Given the description of an element on the screen output the (x, y) to click on. 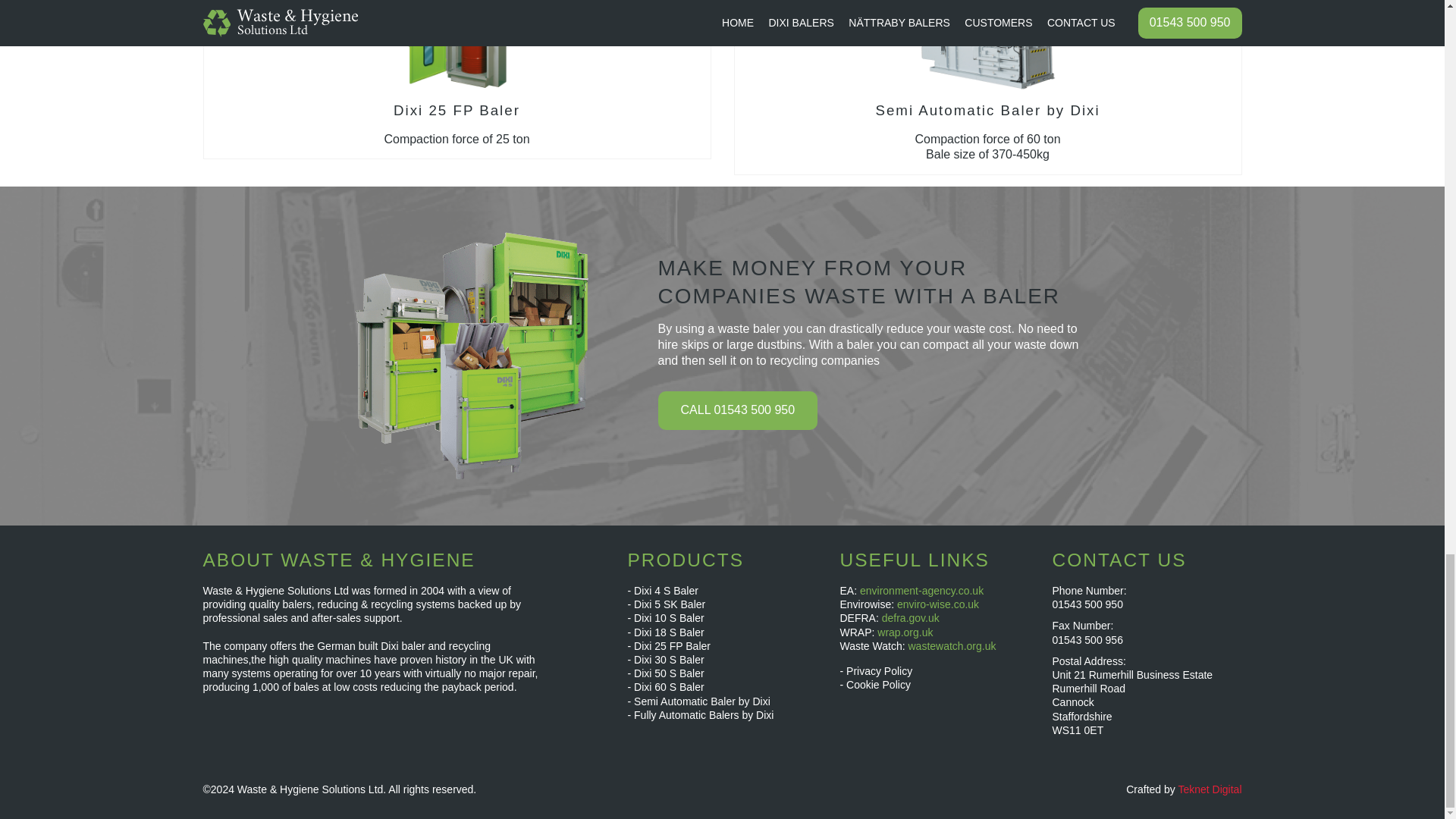
CALL 01543 500 950 (456, 79)
